Given the description of an element on the screen output the (x, y) to click on. 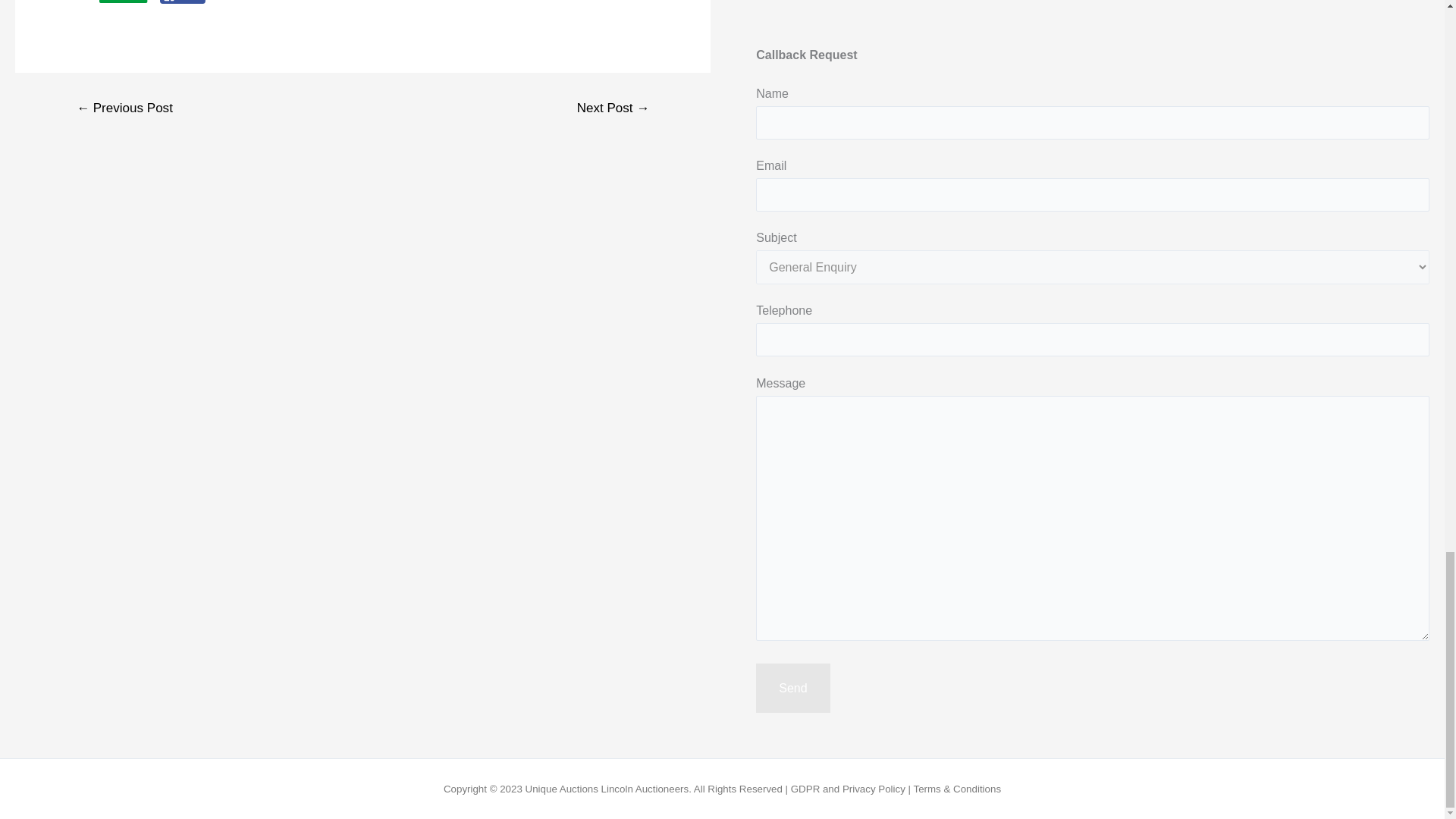
Facebook Share (183, 2)
Pin Share (303, 4)
Send (792, 688)
Tweet (233, 1)
